Given the description of an element on the screen output the (x, y) to click on. 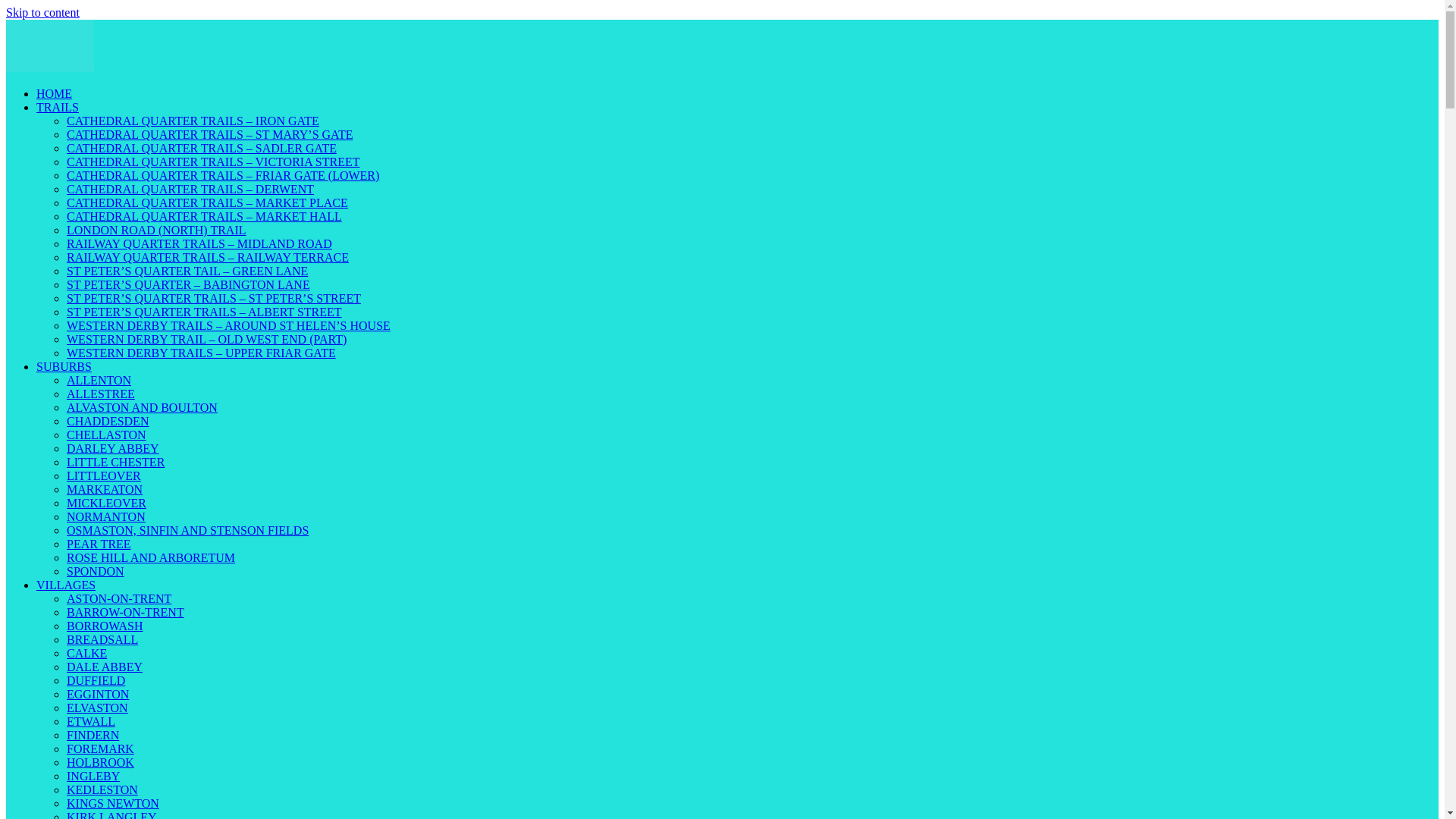
MICKLEOVER (106, 502)
DARLEY ABBEY (112, 448)
CHELLASTON (106, 434)
CHADDESDEN (107, 420)
ASTON-ON-TRENT (118, 598)
ALVASTON AND BOULTON (141, 407)
ALLESTREE (100, 393)
NORMANTON (105, 516)
TRAILS (57, 106)
LITTLEOVER (103, 475)
